Given the description of an element on the screen output the (x, y) to click on. 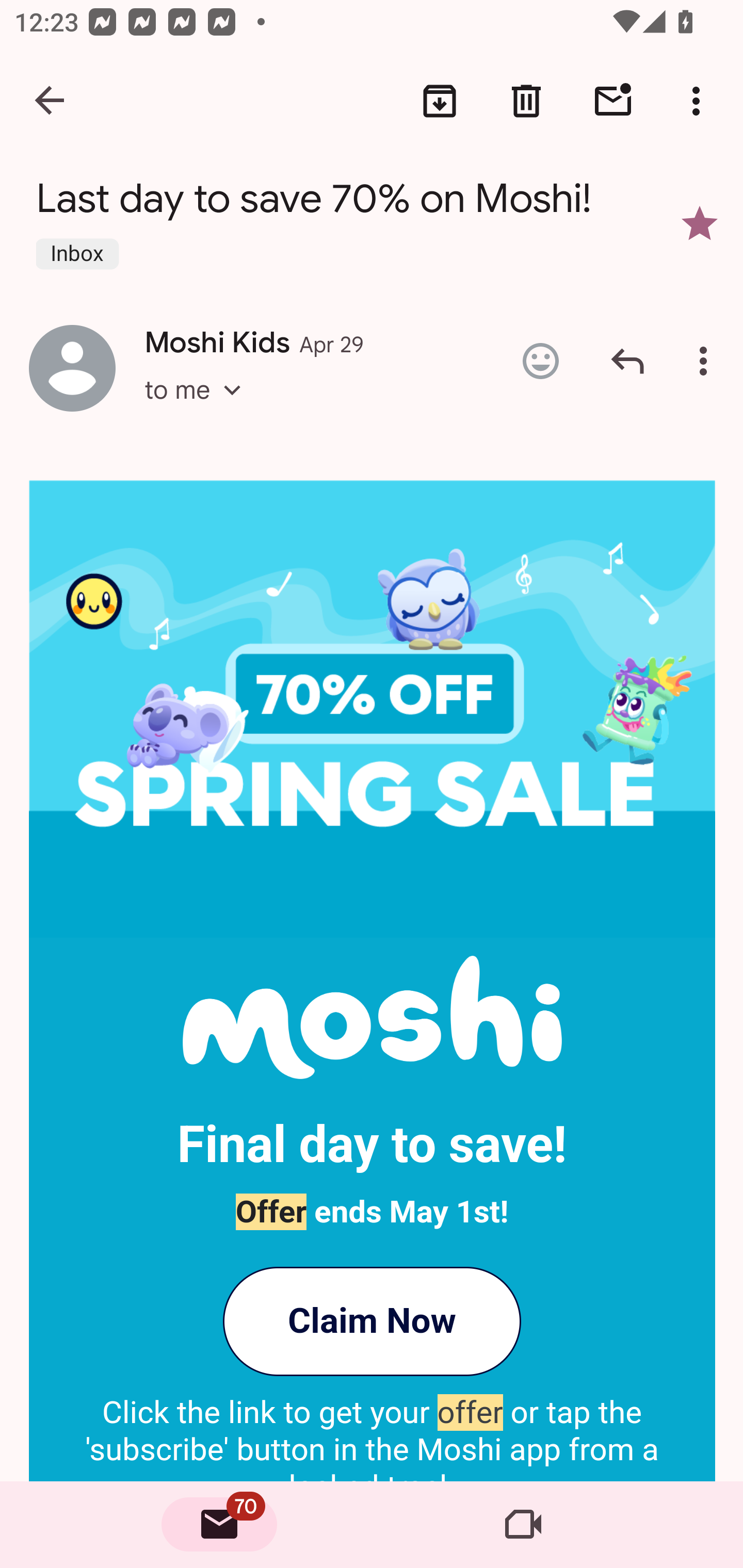
Navigate up (50, 101)
Archive (439, 101)
Delete (525, 101)
Mark unread (612, 101)
More options (699, 101)
Remove star (699, 223)
Add emoji reaction (540, 361)
Reply (626, 361)
More options (706, 361)
Show contact information for Moshi Kids (71, 367)
to me (199, 408)
Meet (523, 1524)
